Given the description of an element on the screen output the (x, y) to click on. 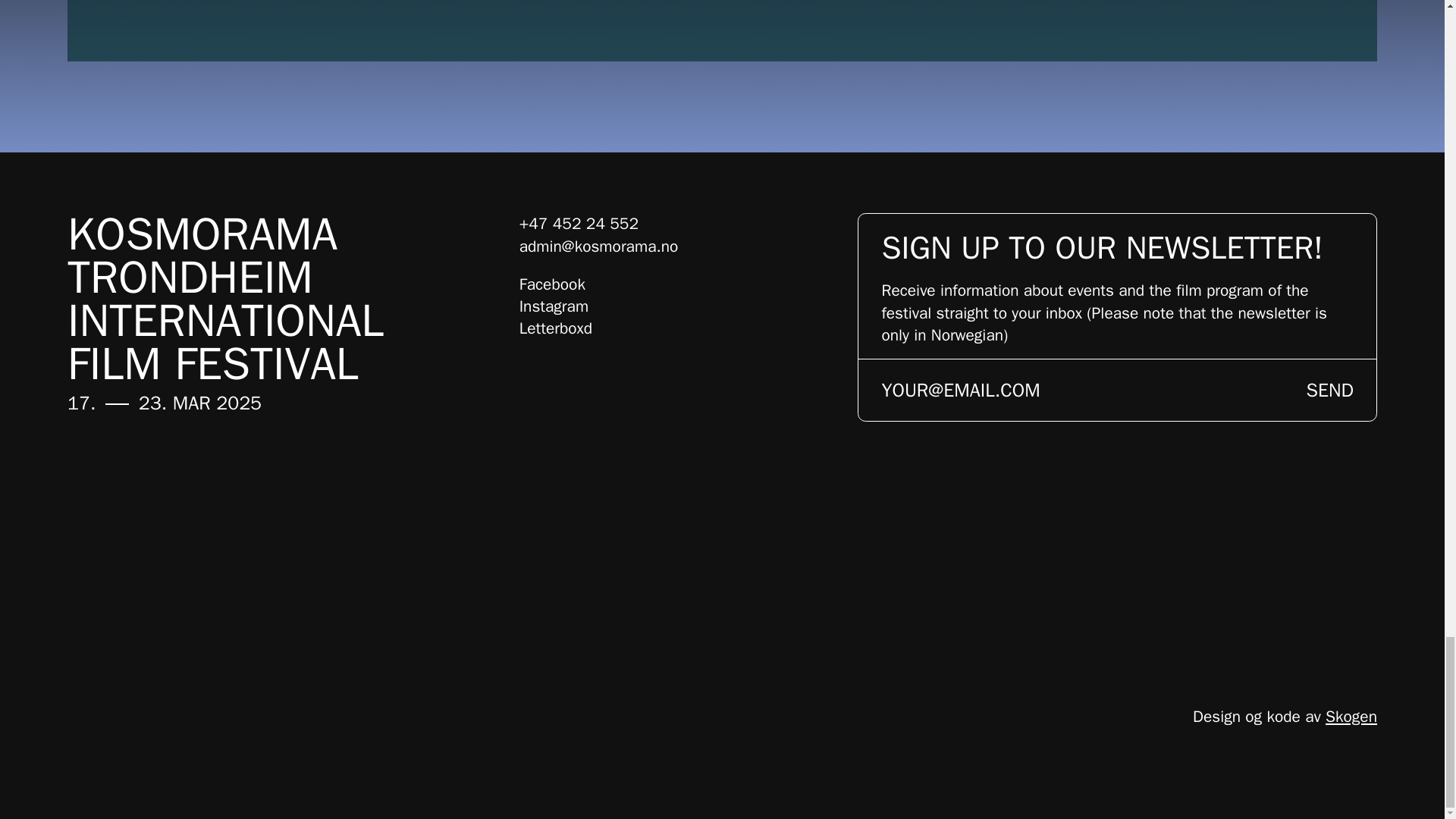
SEND (1329, 389)
Instagram (553, 306)
Letterboxd (555, 328)
Facebook (552, 284)
Skogen (1350, 716)
